Given the description of an element on the screen output the (x, y) to click on. 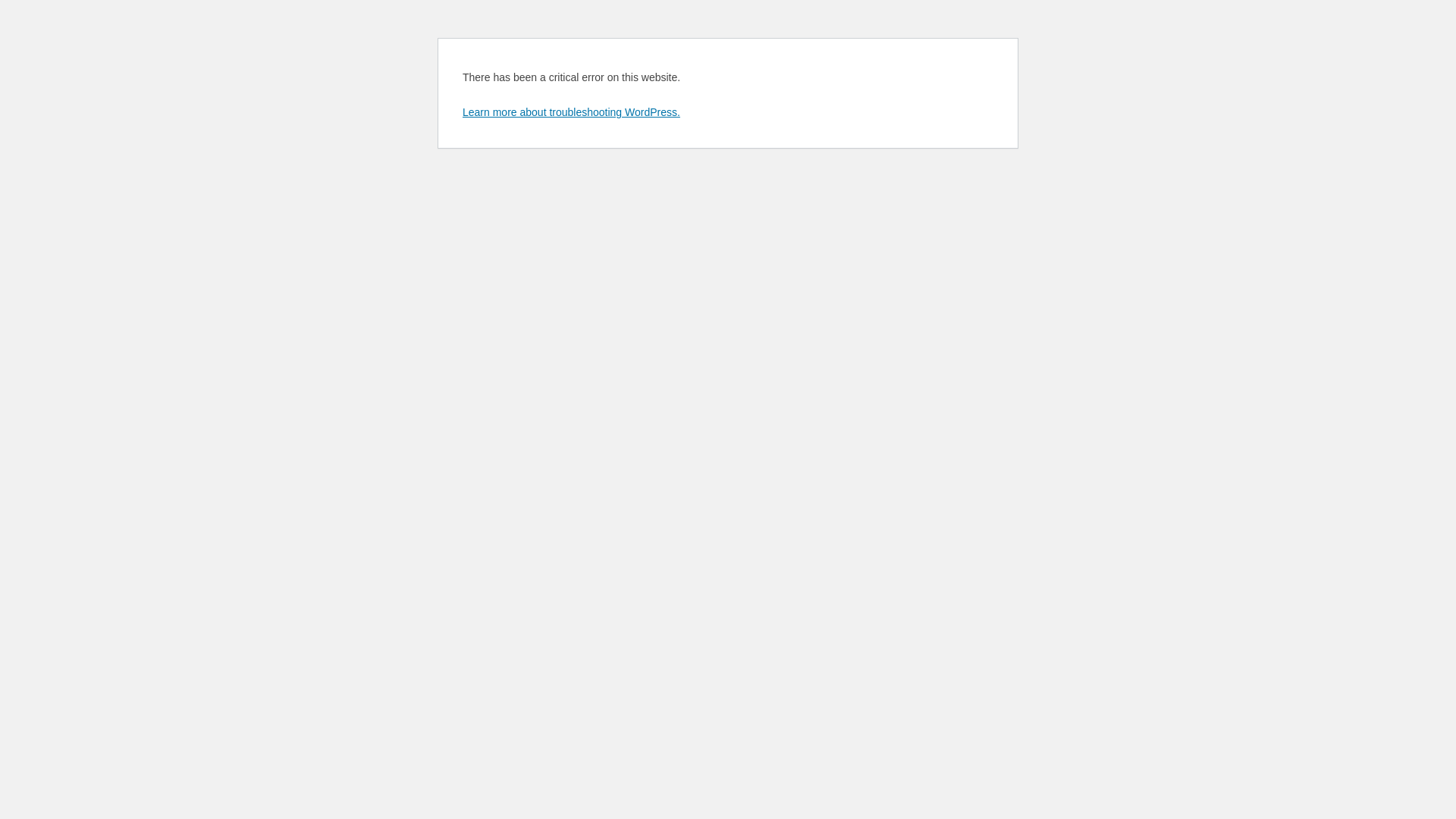
Learn more about troubleshooting WordPress. Element type: text (571, 112)
